Given the description of an element on the screen output the (x, y) to click on. 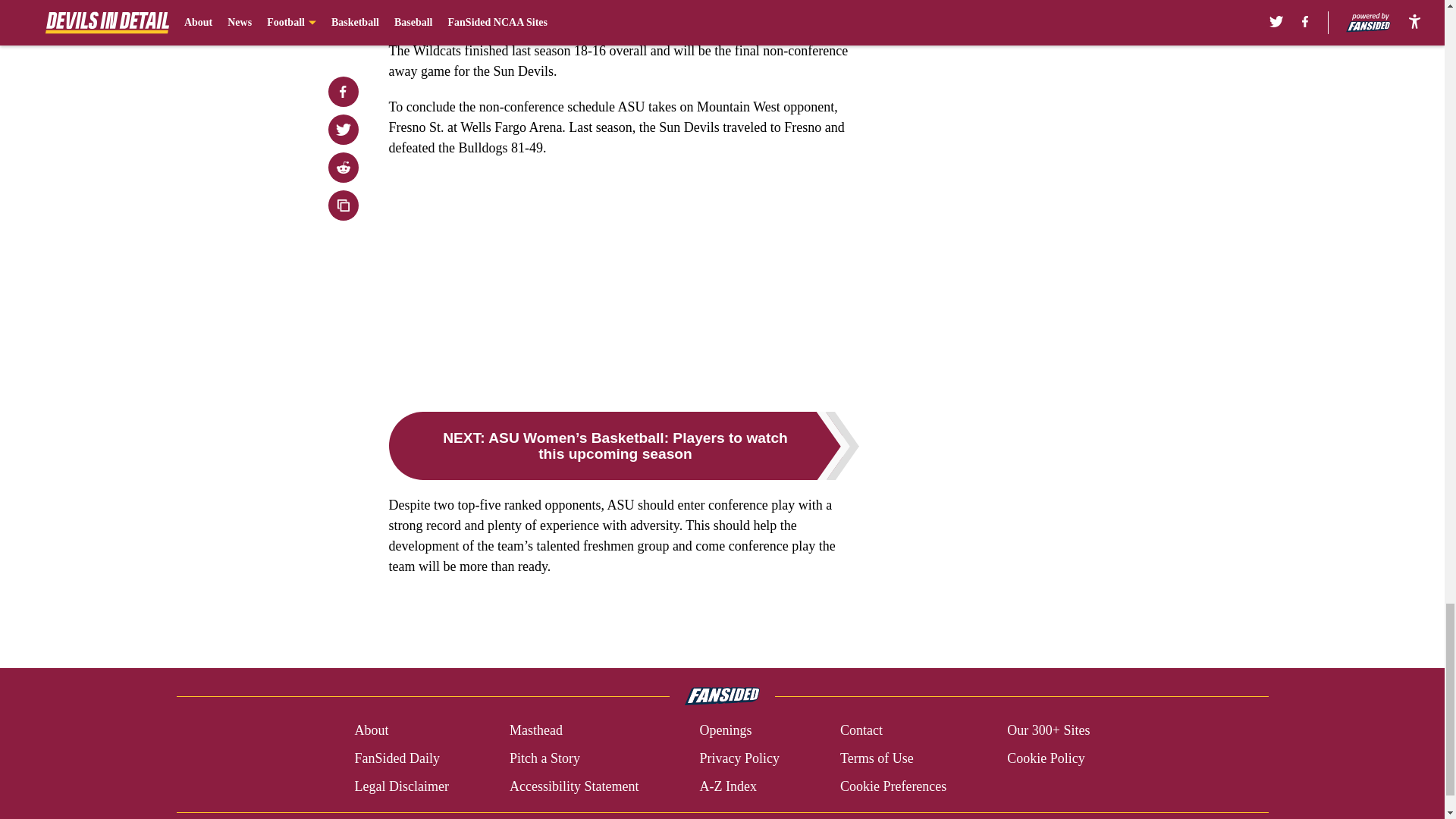
FanSided Daily (396, 758)
Legal Disclaimer (400, 786)
Terms of Use (877, 758)
Openings (724, 730)
Masthead (535, 730)
Accessibility Statement (574, 786)
A-Z Index (726, 786)
About (370, 730)
Cookie Preferences (893, 786)
Privacy Policy (738, 758)
Contact (861, 730)
Pitch a Story (544, 758)
Cookie Policy (1045, 758)
